Given the description of an element on the screen output the (x, y) to click on. 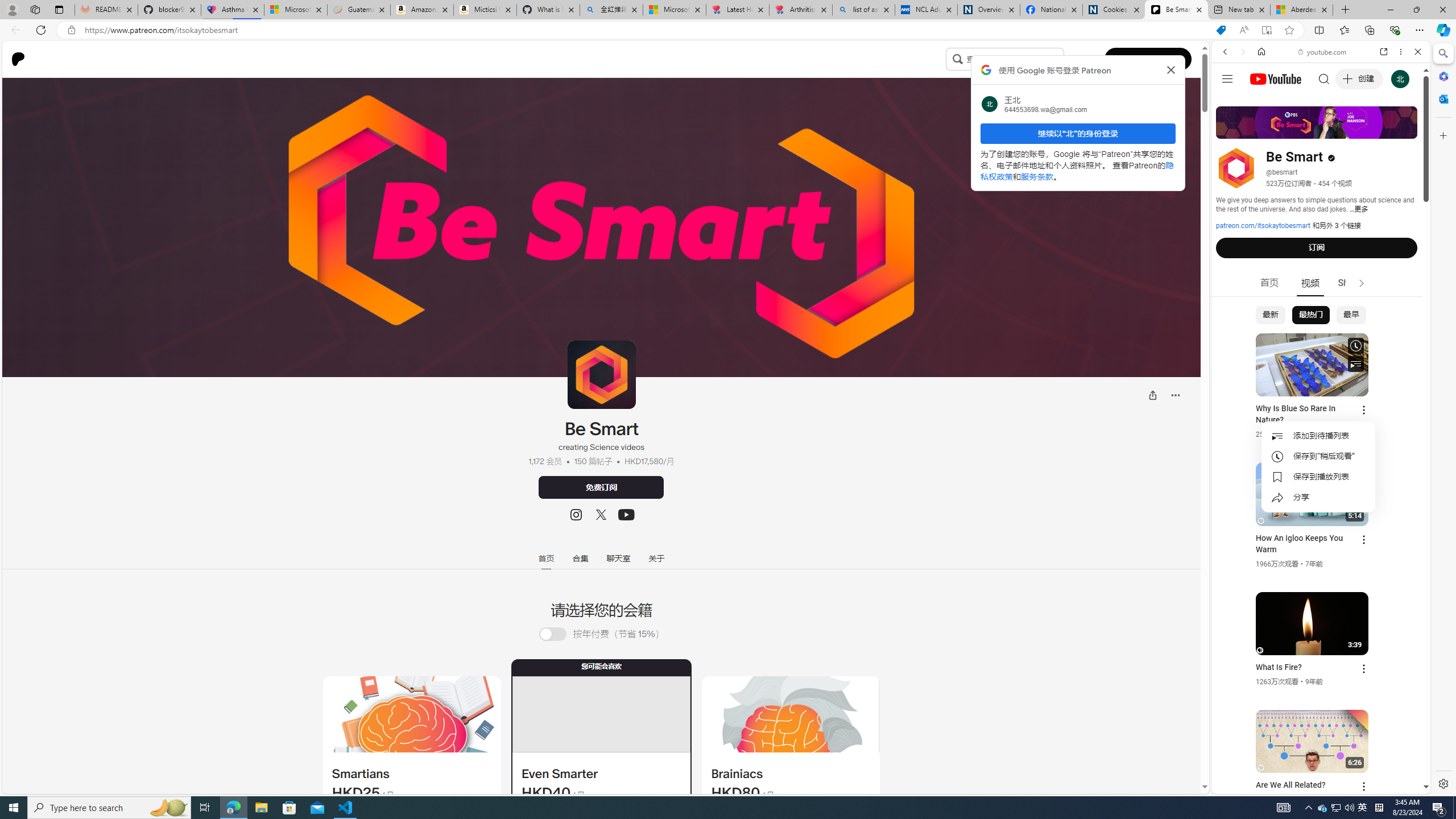
Class: Bz112c Bz112c-r9oPif (1170, 69)
